Given the description of an element on the screen output the (x, y) to click on. 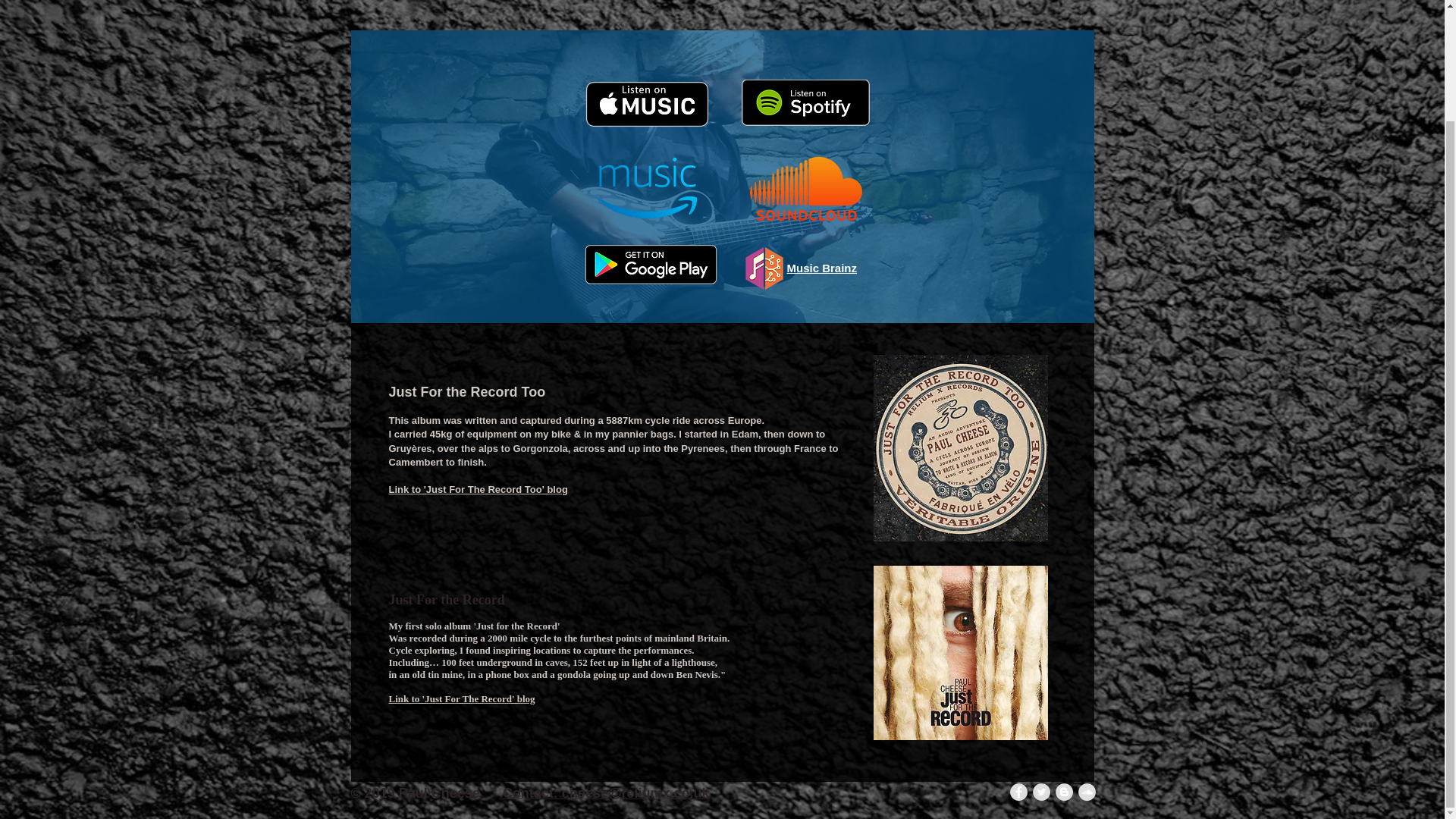
Music Brainz (822, 267)
Link to 'Just For The Record Too' blog (477, 489)
Link to 'Just For The Record' blog (461, 698)
Contact: cheese (555, 792)
